Given the description of an element on the screen output the (x, y) to click on. 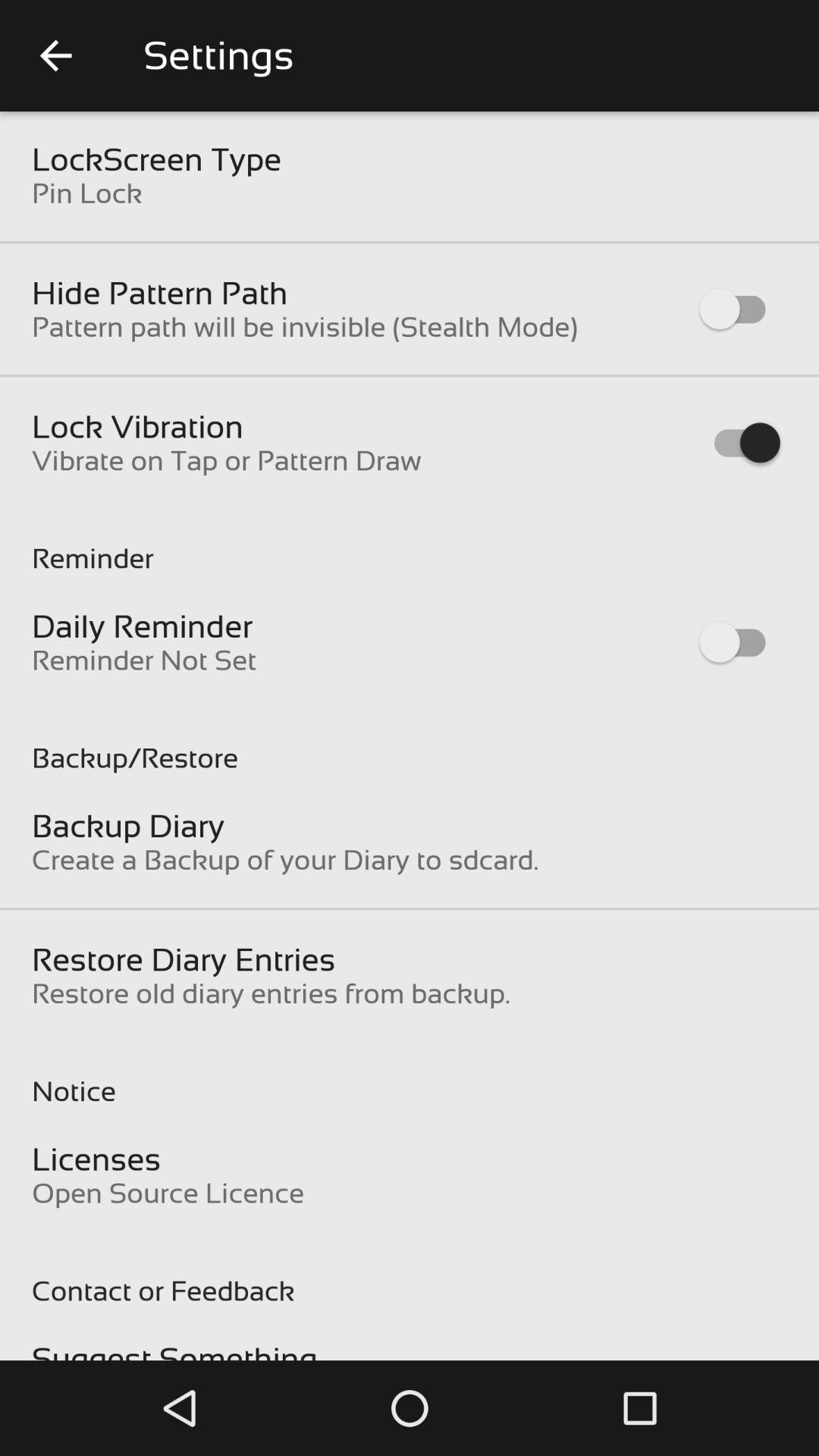
click item below contact or feedback (174, 1350)
